Given the description of an element on the screen output the (x, y) to click on. 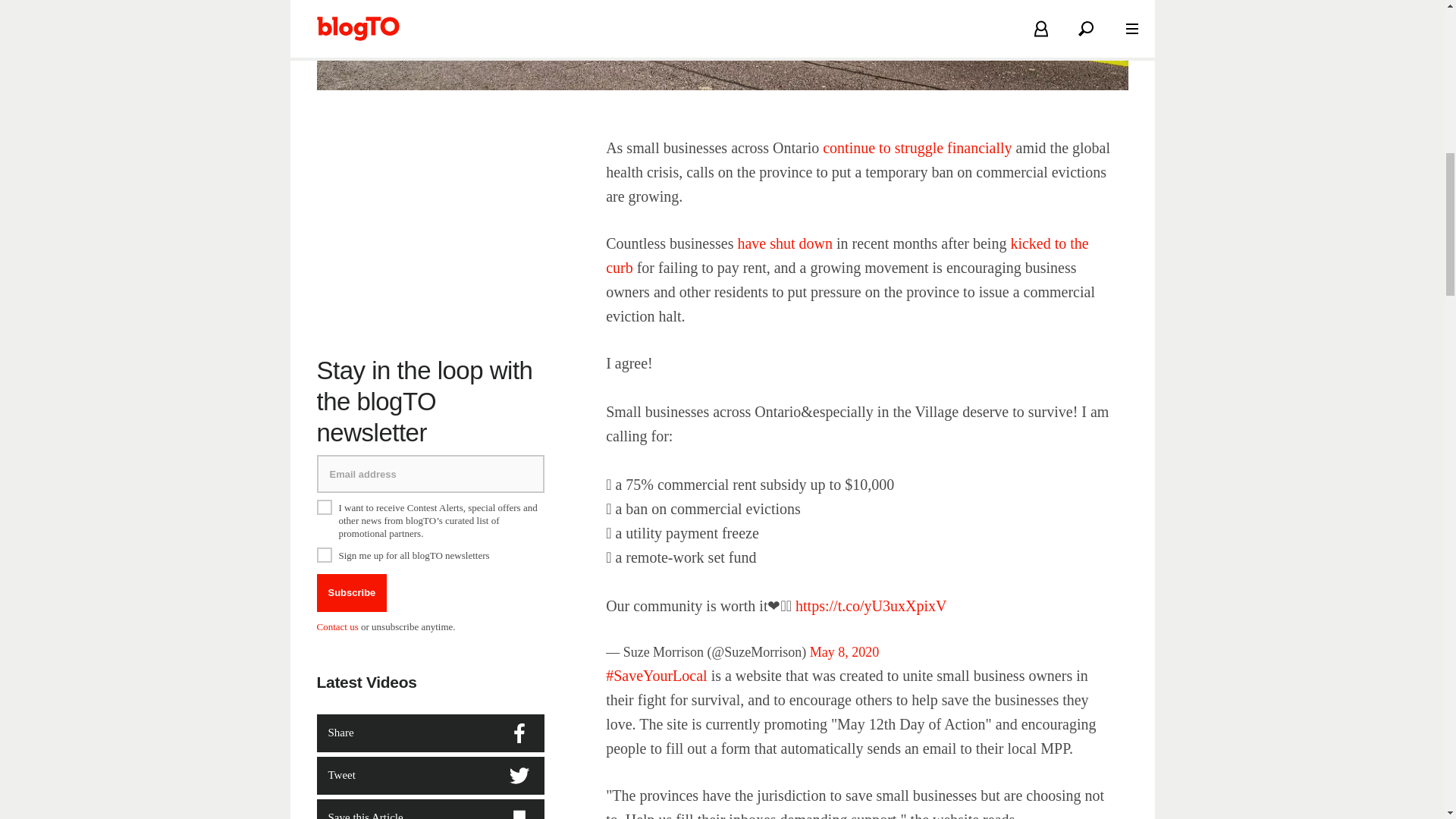
Subscribe (352, 592)
